Given the description of an element on the screen output the (x, y) to click on. 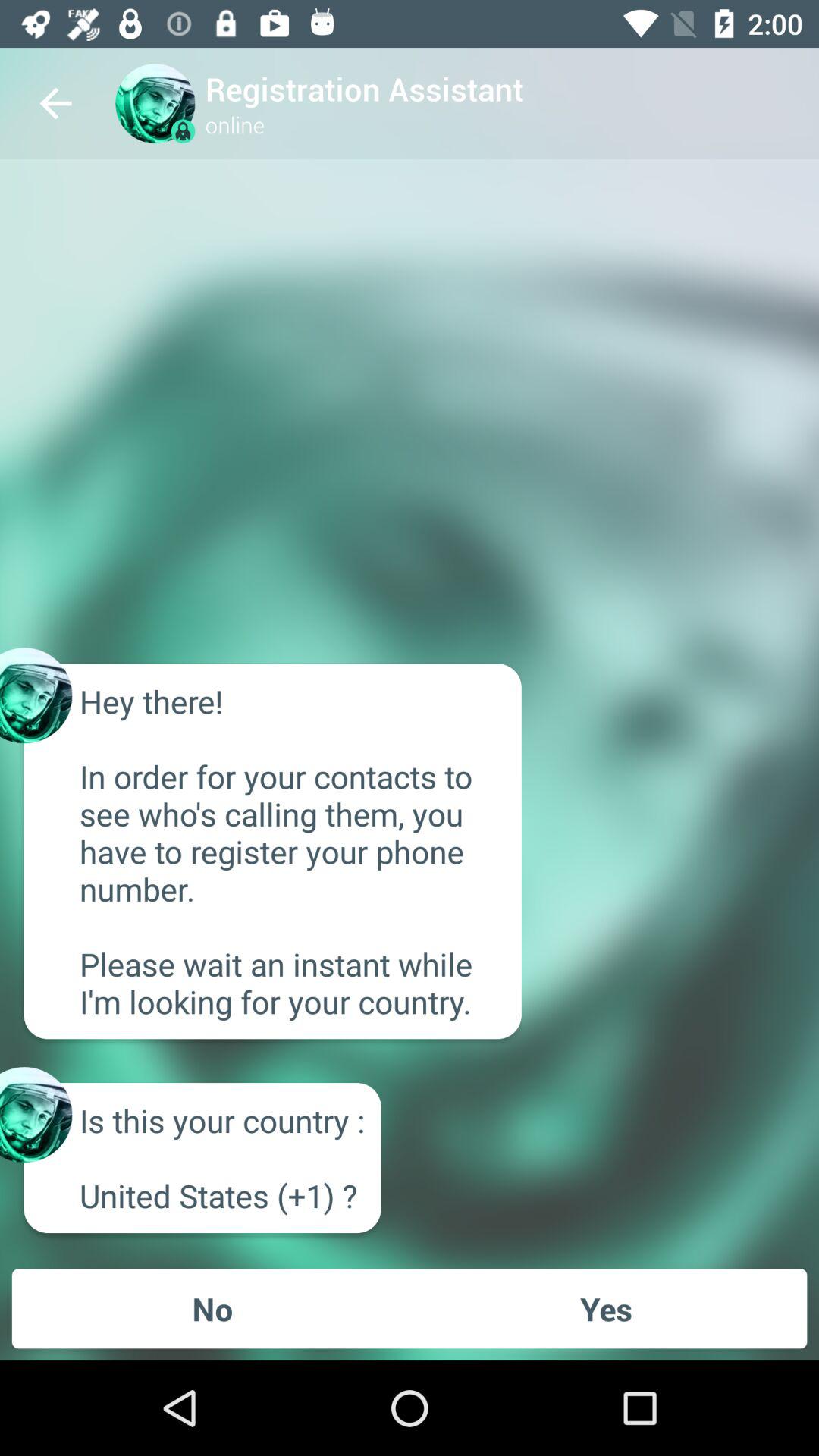
turn on the item below the is this your (212, 1308)
